Given the description of an element on the screen output the (x, y) to click on. 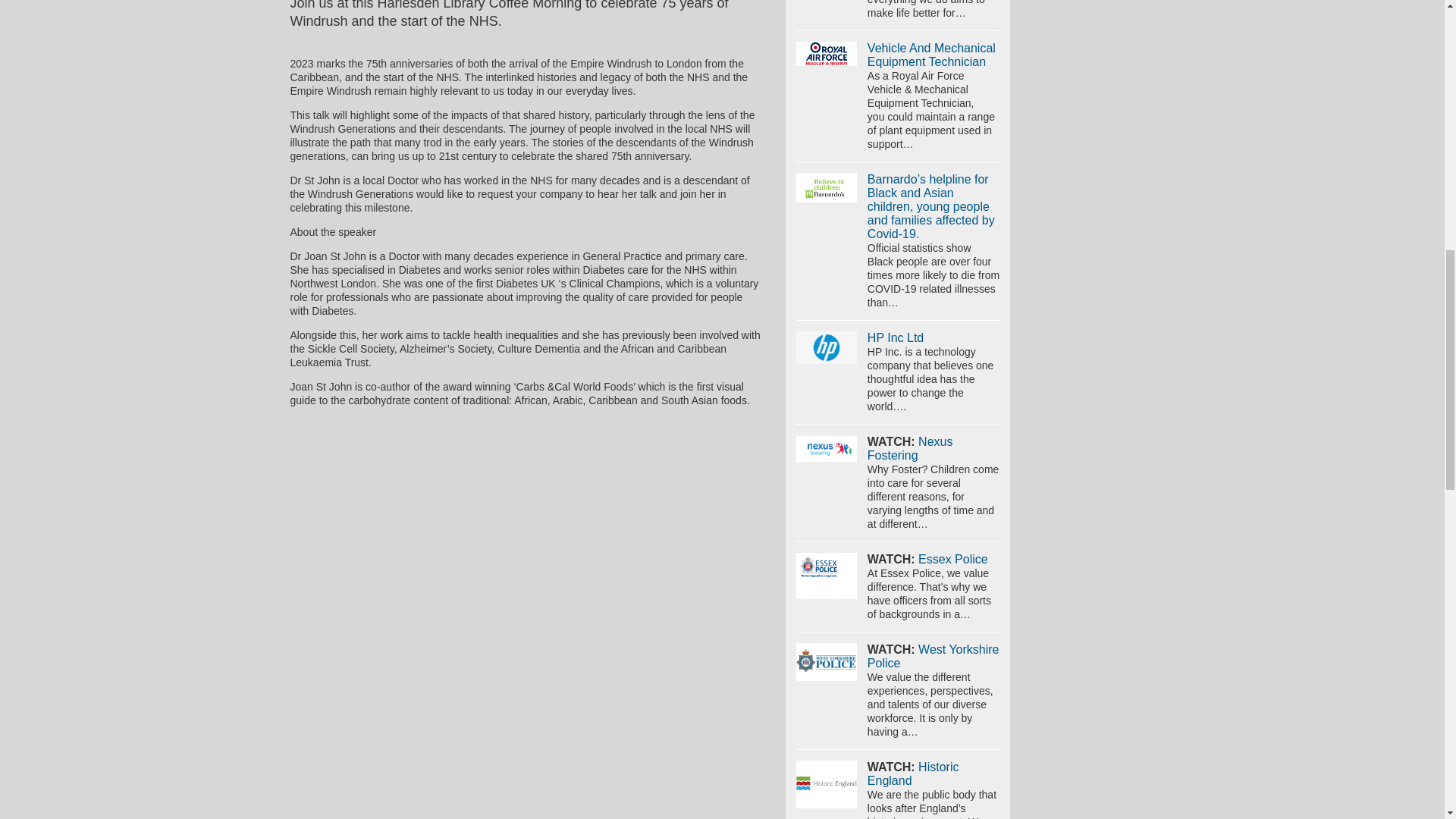
Vehicle And Mechanical Equipment Technician (931, 54)
Vehicle And Mechanical Equipment Technician (826, 53)
HP Inc Ltd (826, 347)
